Given the description of an element on the screen output the (x, y) to click on. 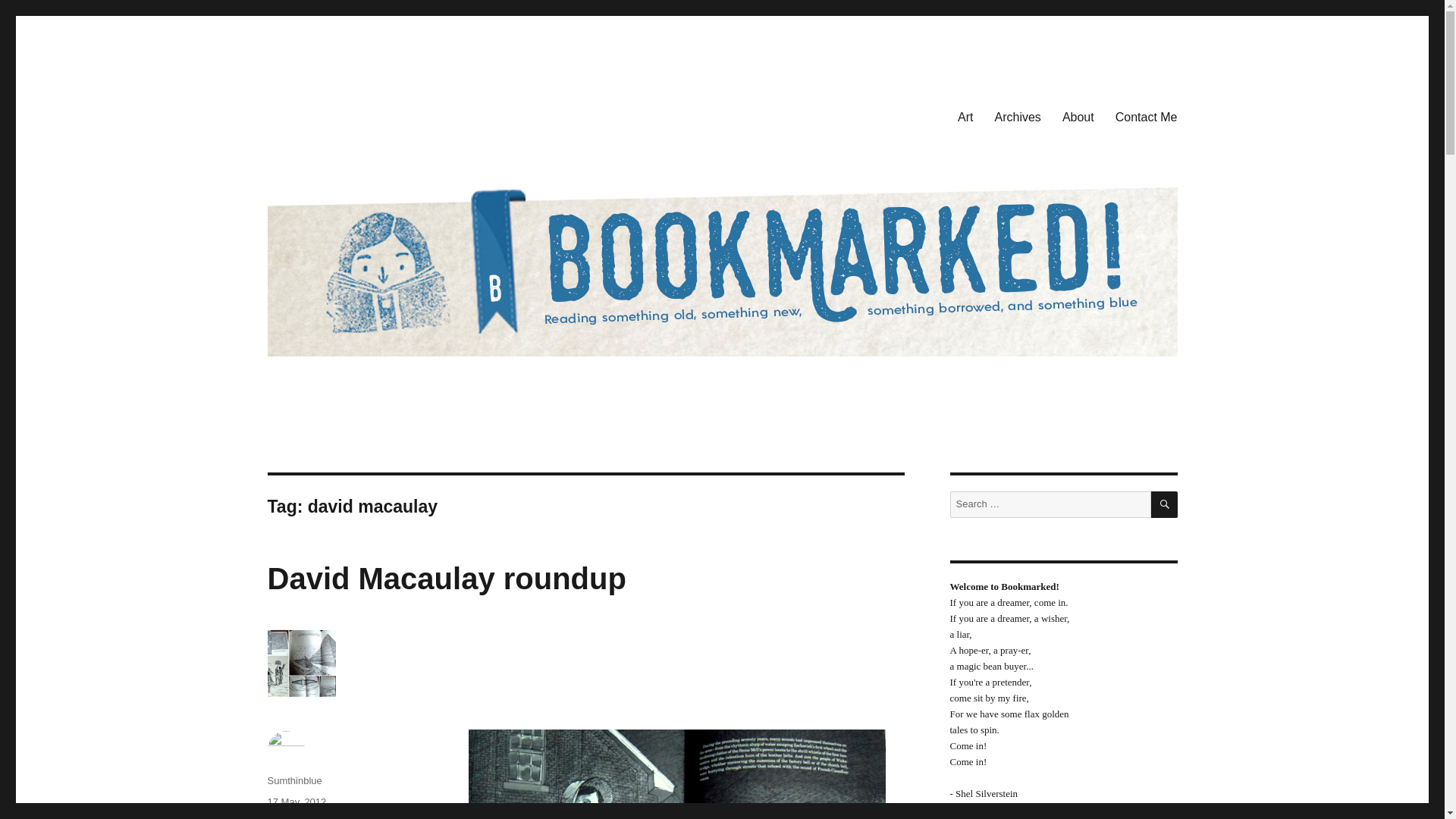
About (1078, 116)
Book Reviews (368, 818)
Art (965, 116)
Archives (1017, 116)
Bookmarked! (334, 114)
Sumthinblue (293, 780)
Contact Me (1146, 116)
17 May, 2012 (296, 801)
Author Feature (299, 818)
David Macaulay roundup (446, 578)
